Given the description of an element on the screen output the (x, y) to click on. 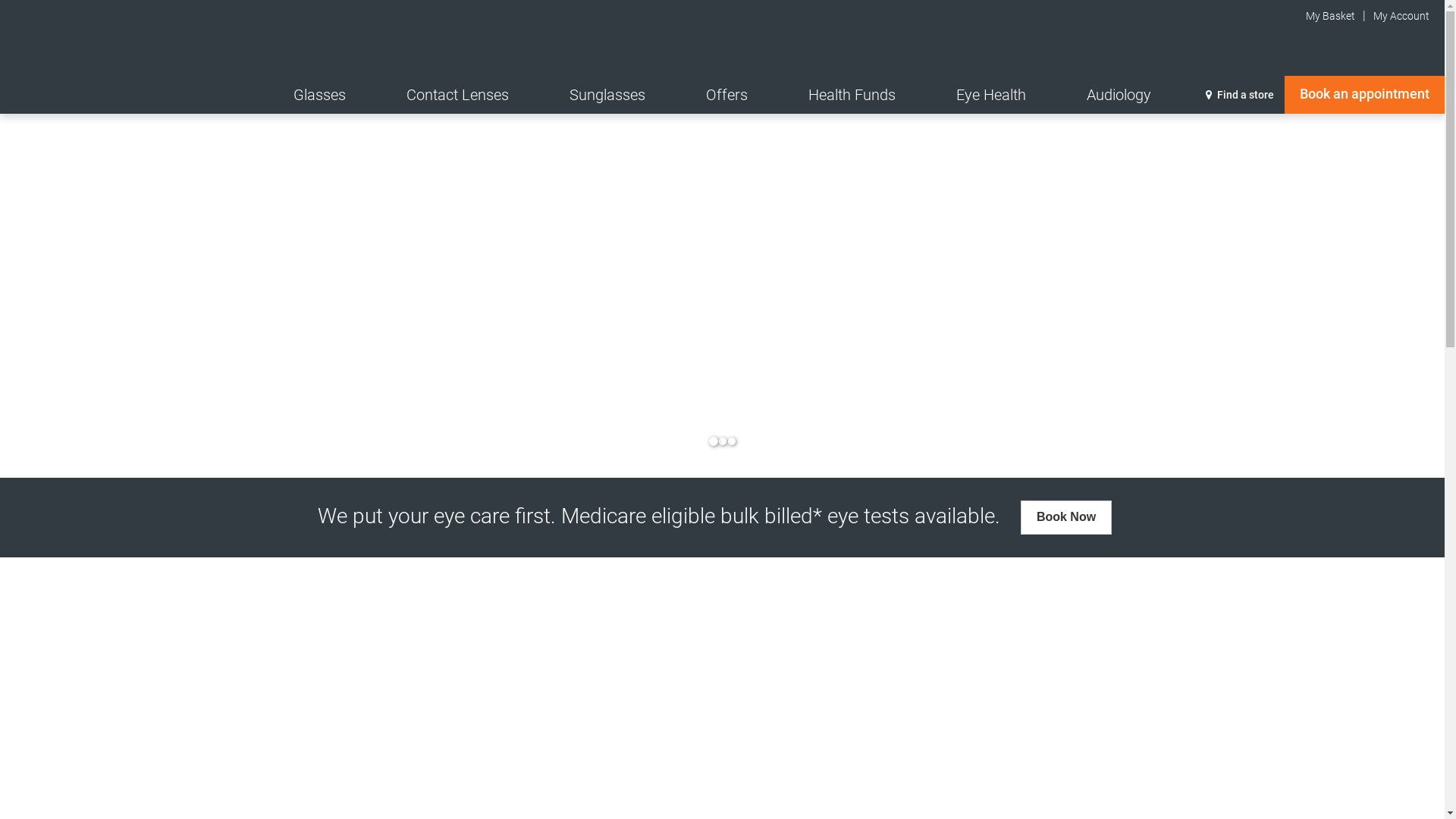
Find a store Element type: text (1239, 94)
Book Now Element type: text (1065, 517)
Offers Element type: text (726, 94)
My Account Element type: text (1401, 15)
Sunglasses Element type: text (607, 94)
Contact Lenses Element type: text (457, 94)
Glasses Element type: text (319, 94)
Eye Health Element type: text (990, 94)
My Basket Element type: text (1321, 15)
Book an appointment Element type: text (1364, 94)
Audiology Element type: text (1118, 94)
Health Funds Element type: text (851, 94)
